Given the description of an element on the screen output the (x, y) to click on. 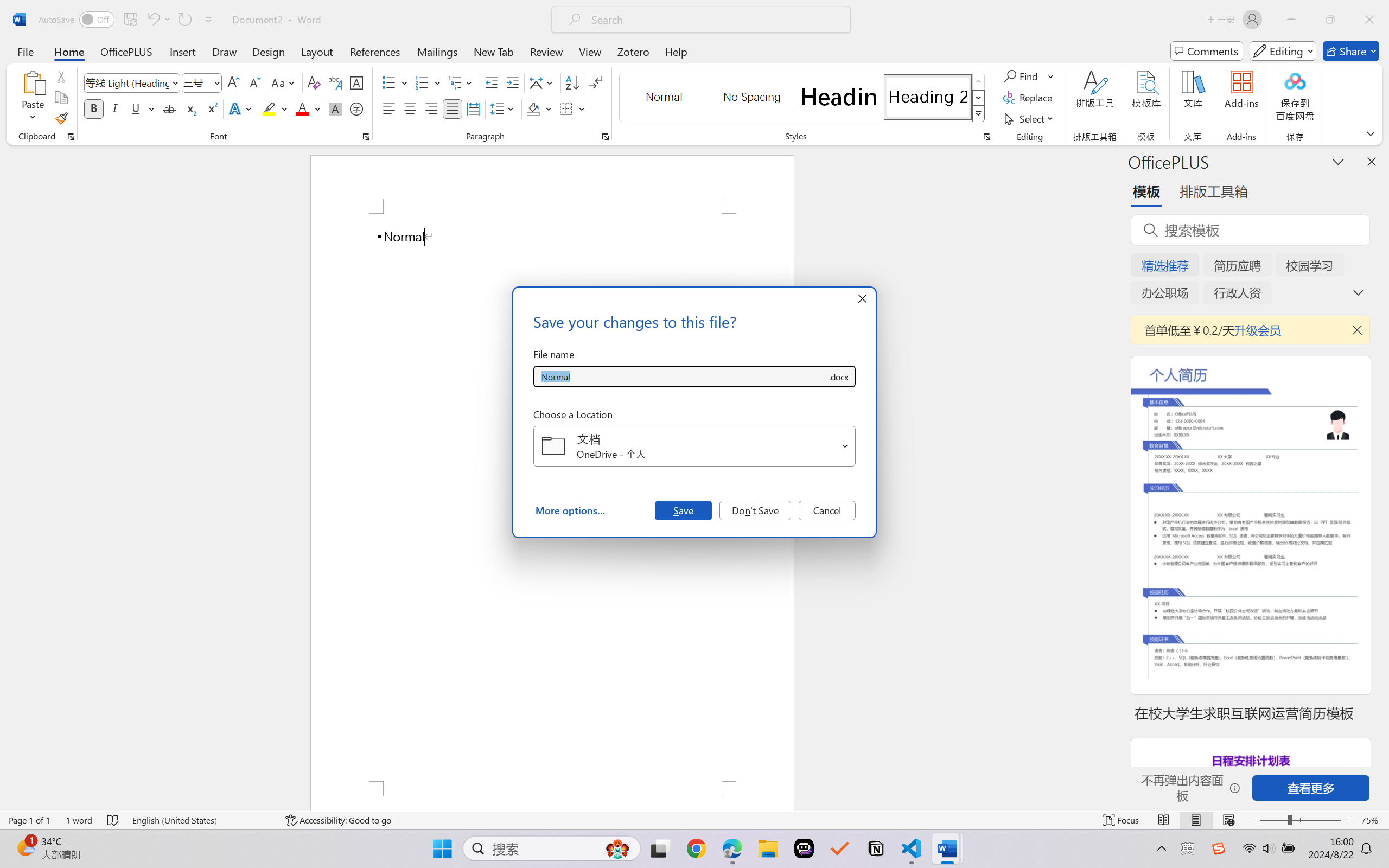
Comments (1206, 50)
Find (1022, 75)
Sort... (571, 82)
Underline (135, 108)
Share (1350, 51)
Shrink Font (253, 82)
File name (680, 376)
Superscript (210, 108)
